Given the description of an element on the screen output the (x, y) to click on. 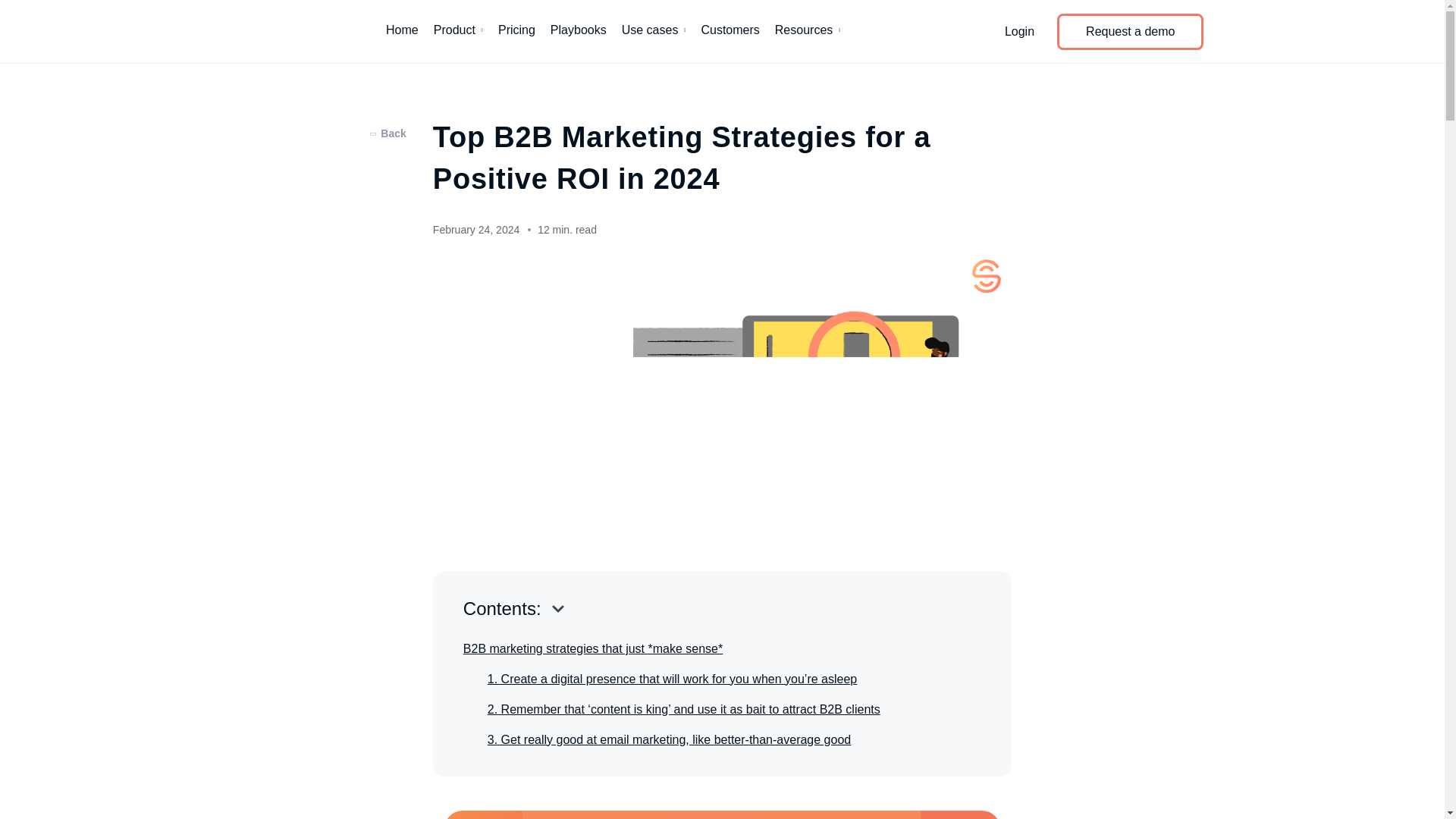
Request a demo (1130, 31)
Back (389, 133)
Playbooks (578, 31)
Login (1019, 30)
Use cases (653, 31)
Resources (807, 31)
Customers (729, 31)
